Given the description of an element on the screen output the (x, y) to click on. 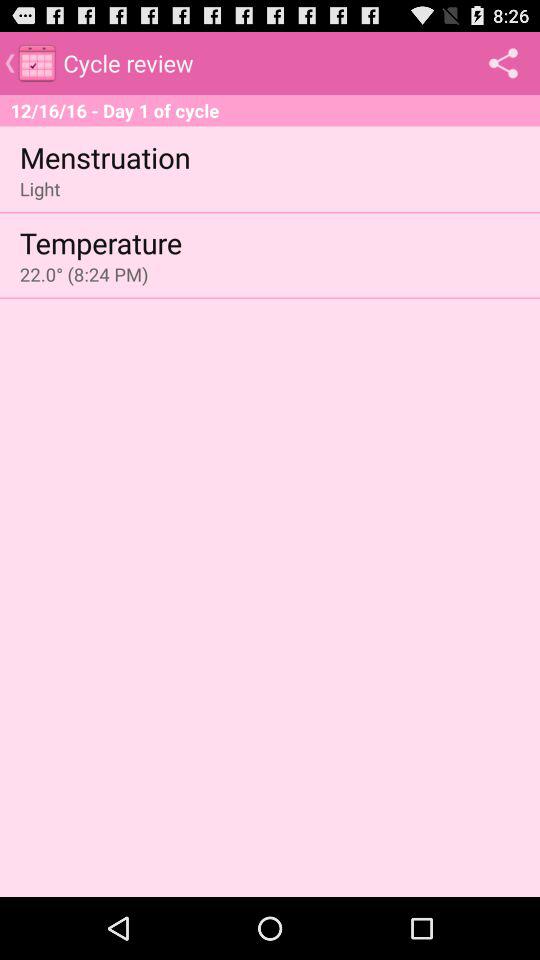
tap icon below menstruation app (39, 188)
